Given the description of an element on the screen output the (x, y) to click on. 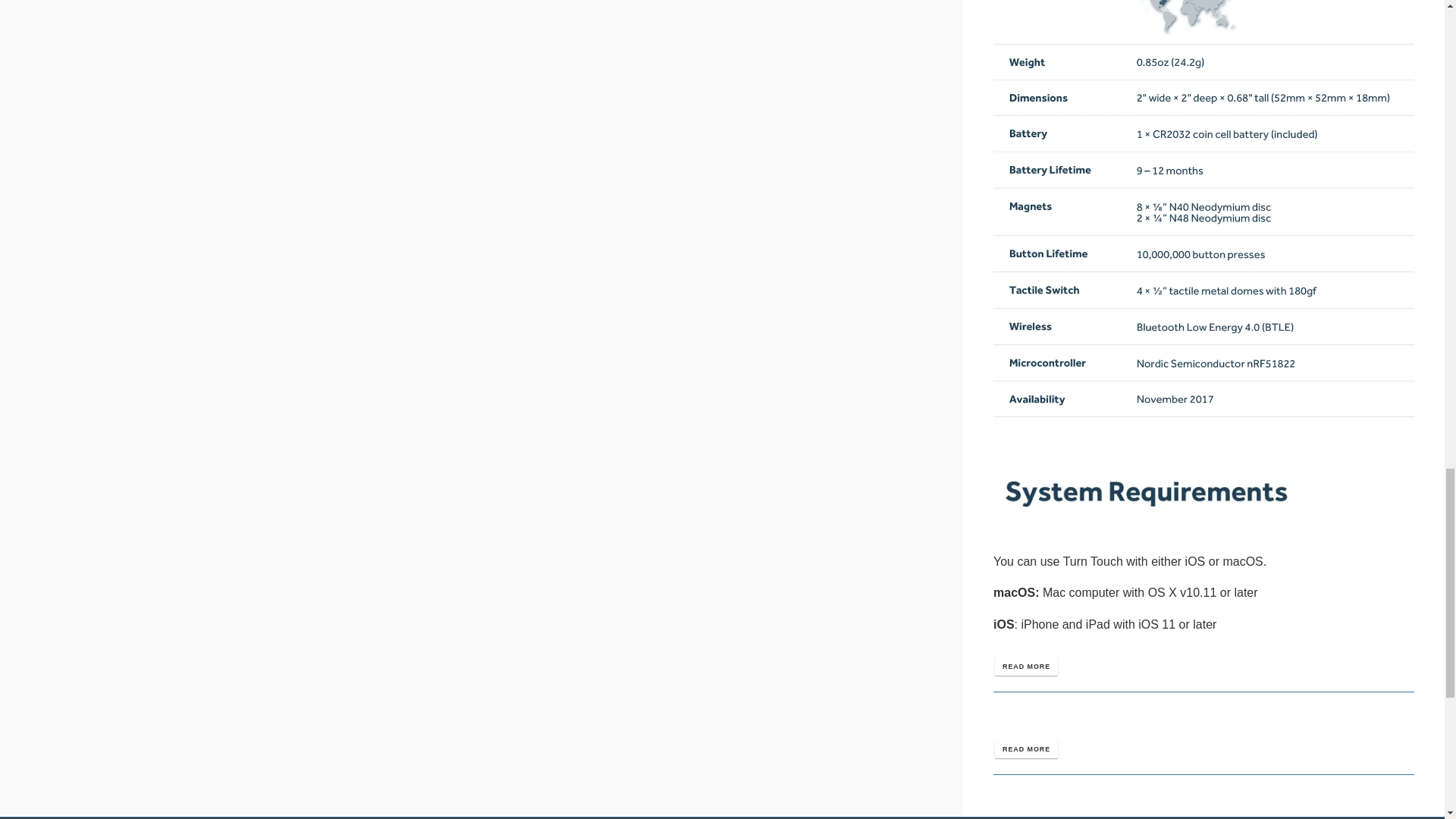
READ MORE (1026, 749)
READ MORE (1026, 666)
